Given the description of an element on the screen output the (x, y) to click on. 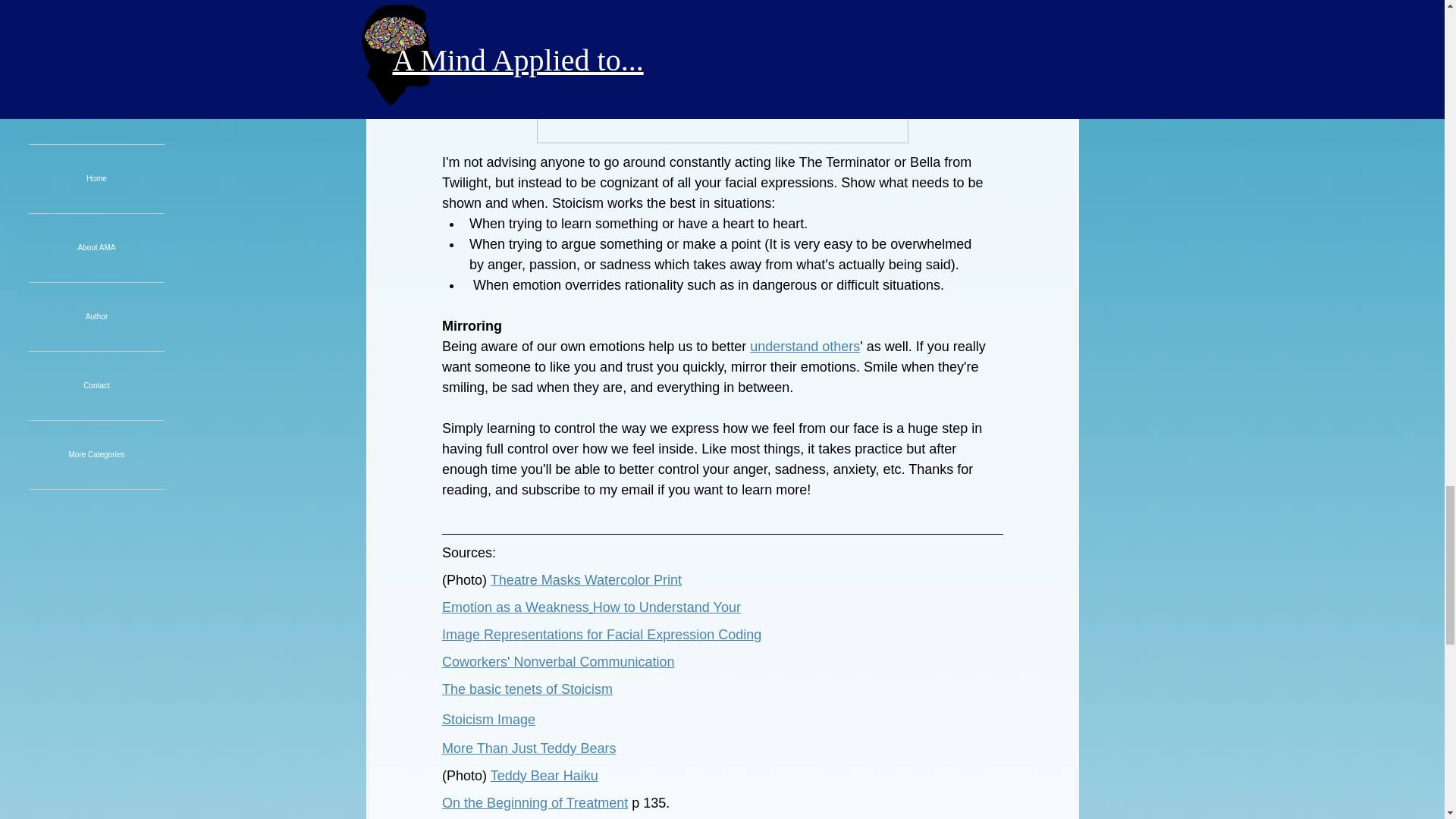
Image Representations for Facial Expression Coding (600, 634)
Teddy Bear Haiku (542, 775)
Emotion as a Weakness (514, 607)
understand others (804, 346)
On the Beginning of Treatment (534, 802)
Theatre Masks Watercolor Print (585, 580)
Coworkers' Nonverbal Communication (557, 661)
The basic tenets of Stoicism (526, 688)
More Than Just Teddy Bears (527, 748)
Stoicism Image (487, 719)
